Given the description of an element on the screen output the (x, y) to click on. 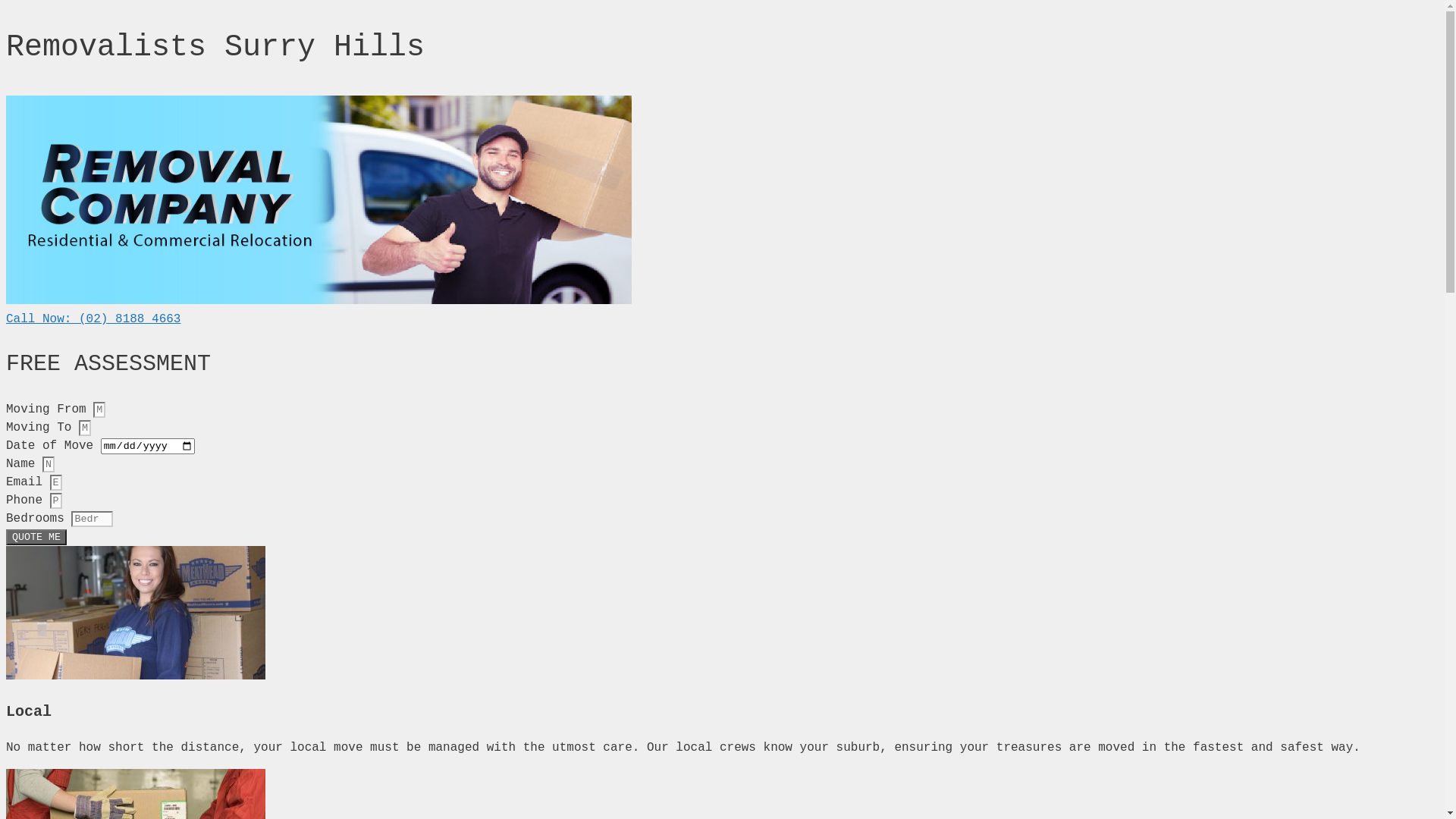
QUOTE ME Element type: text (36, 537)
Local Removalists Surry Hills Element type: hover (135, 612)
Call Now: (02) 8188 4663 Element type: text (93, 319)
